Given the description of an element on the screen output the (x, y) to click on. 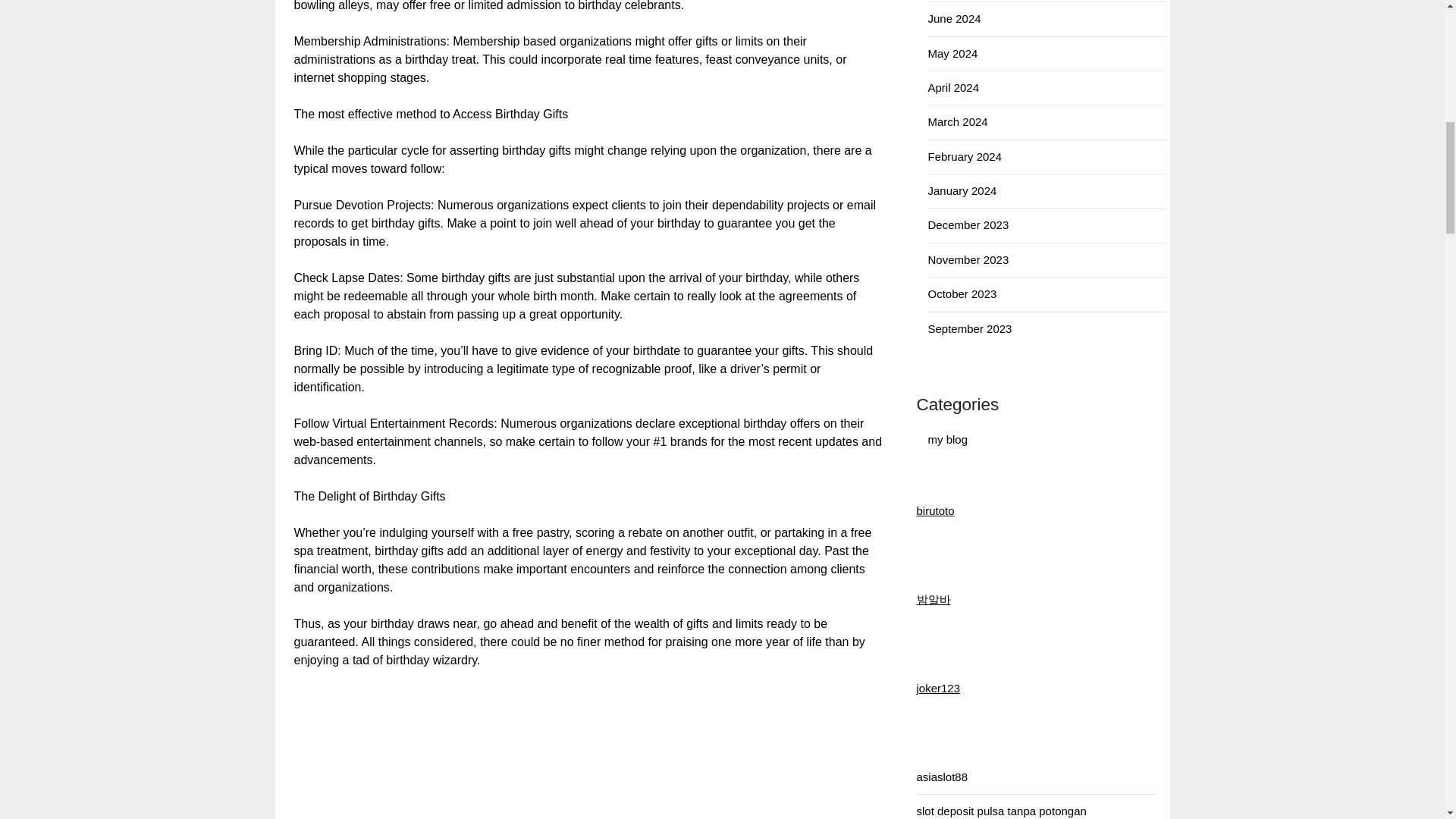
April 2024 (953, 87)
January 2024 (962, 190)
asiaslot88 (941, 776)
June 2024 (954, 18)
birutoto (934, 510)
joker123 (937, 687)
October 2023 (962, 293)
my blog (948, 438)
September 2023 (969, 328)
February 2024 (965, 155)
May 2024 (953, 52)
December 2023 (968, 224)
March 2024 (958, 121)
slot deposit pulsa tanpa potongan (1000, 810)
November 2023 (968, 259)
